Given the description of an element on the screen output the (x, y) to click on. 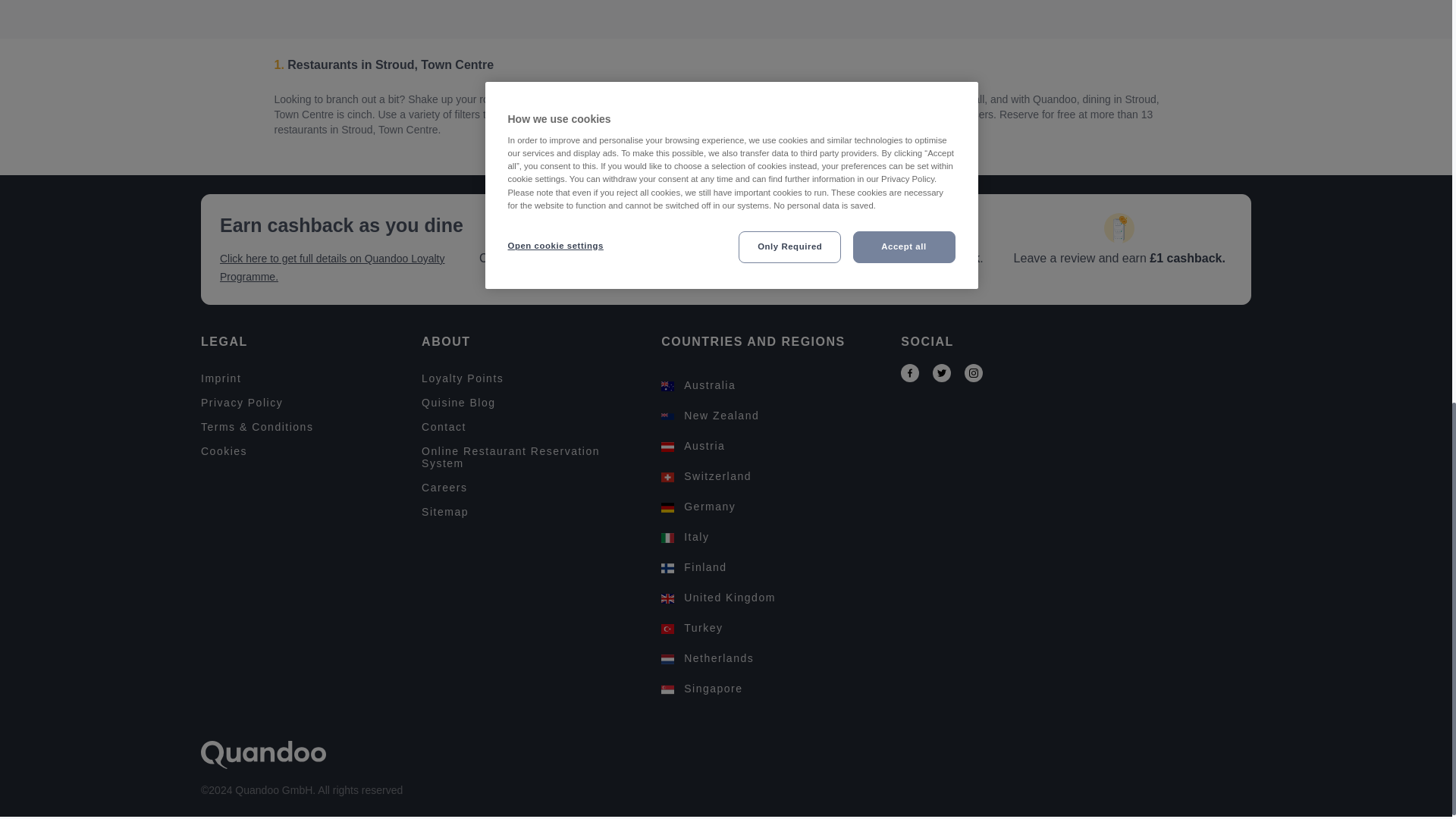
Contact (532, 426)
Austria (771, 448)
Careers (532, 487)
Quisine Blog (532, 402)
Loyalty Points (532, 378)
Switzerland (771, 478)
Online Restaurant Reservation System (532, 457)
Australia (771, 387)
Click here to get full details on Quandoo Loyalty Programme. (332, 267)
Sitemap (532, 511)
